Given the description of an element on the screen output the (x, y) to click on. 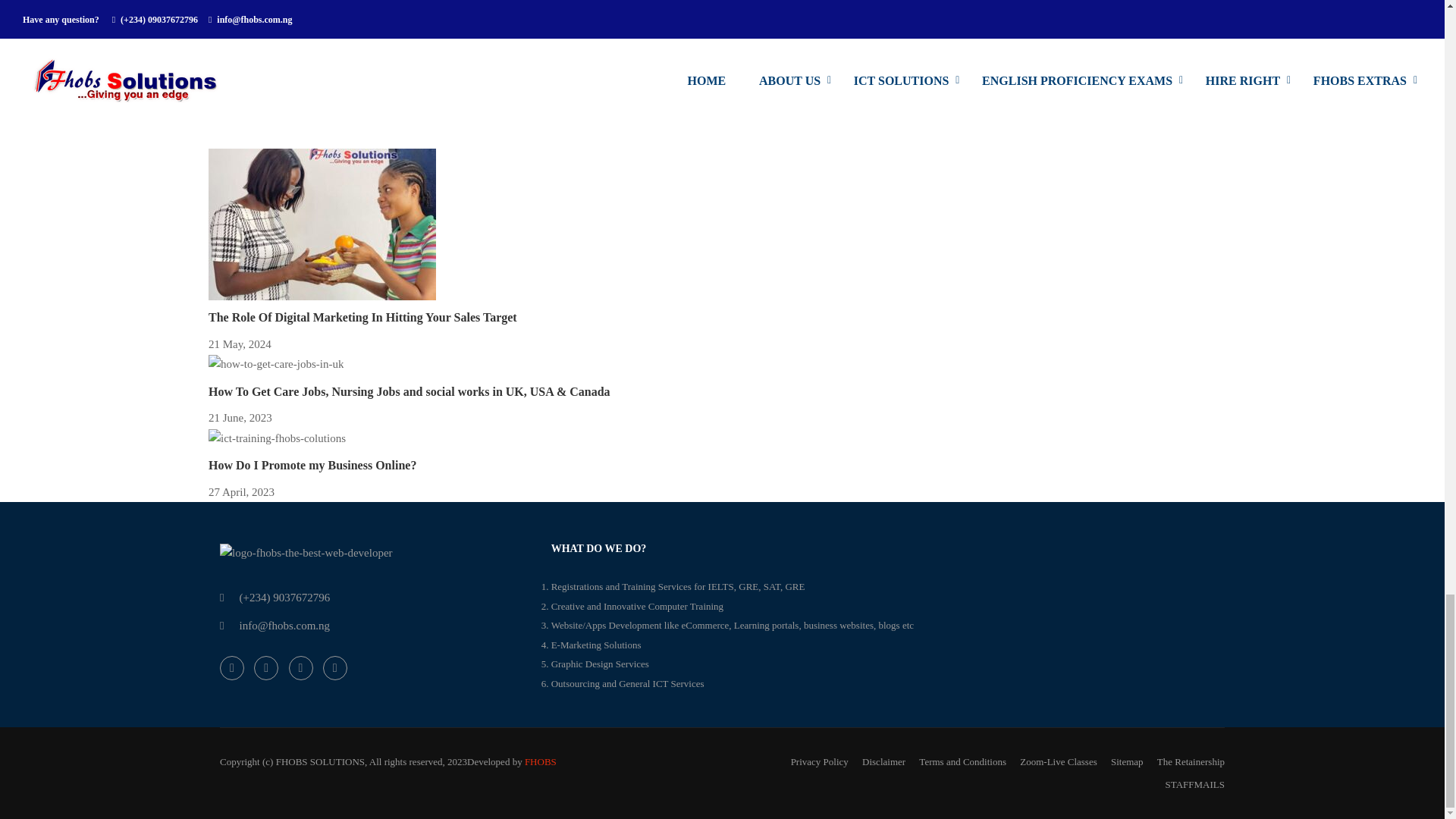
the-role-of-digital-marketing-in-hitting-your-sales-taget (321, 224)
how-to-get-care-jobs-in-uk (275, 364)
ict-training-fhobs-colutions (277, 438)
The Role Of Digital Marketing In Hitting Your Sales Target (362, 317)
